Given the description of an element on the screen output the (x, y) to click on. 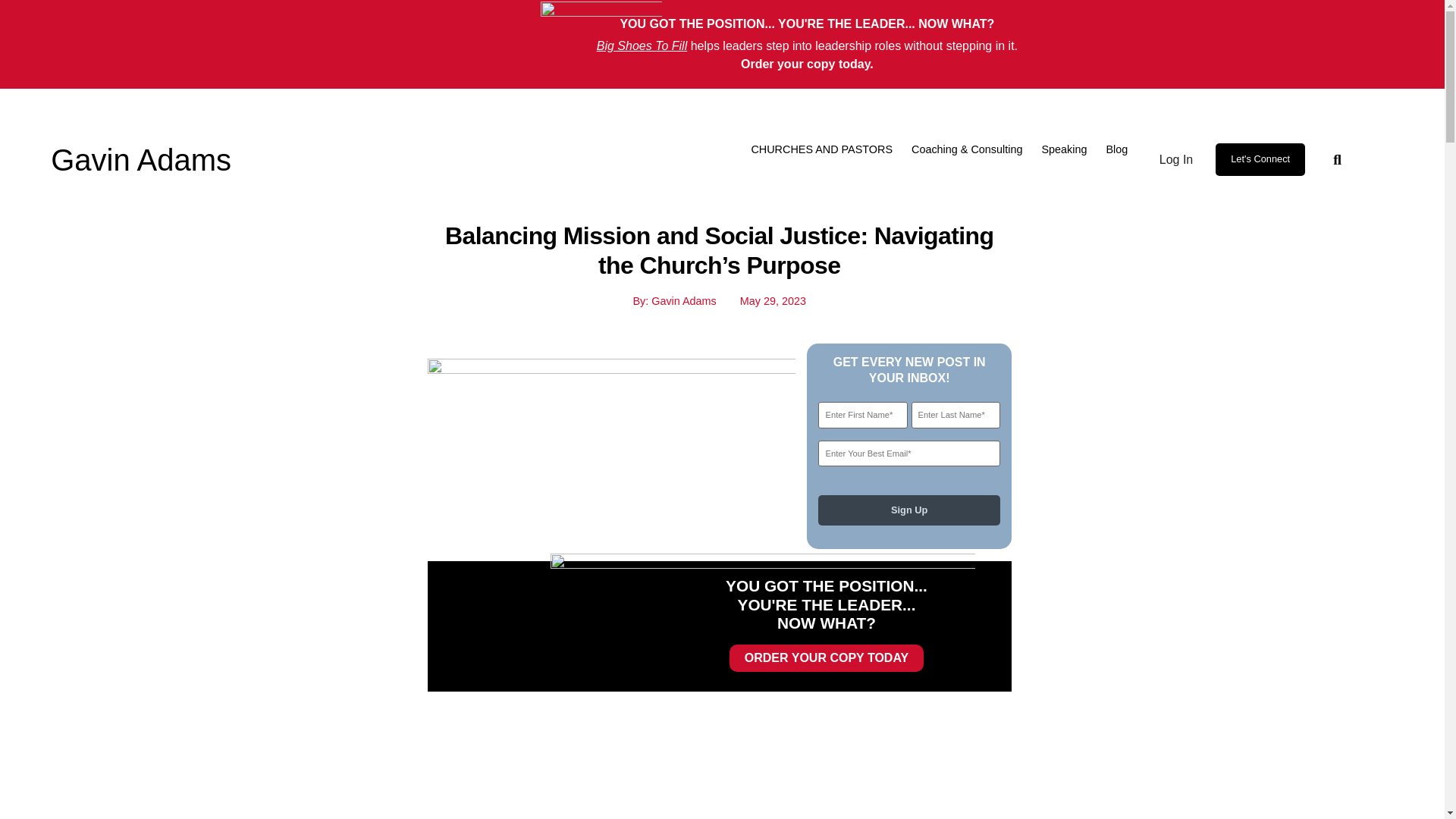
Sign Up (908, 509)
ORDER YOUR COPY TODAY (826, 657)
Let's Connect (1259, 159)
Sign Up (908, 509)
Log In (1173, 159)
Gavin Adams (140, 159)
CHURCHES AND PASTORS (821, 149)
Speaking (1063, 149)
